Given the description of an element on the screen output the (x, y) to click on. 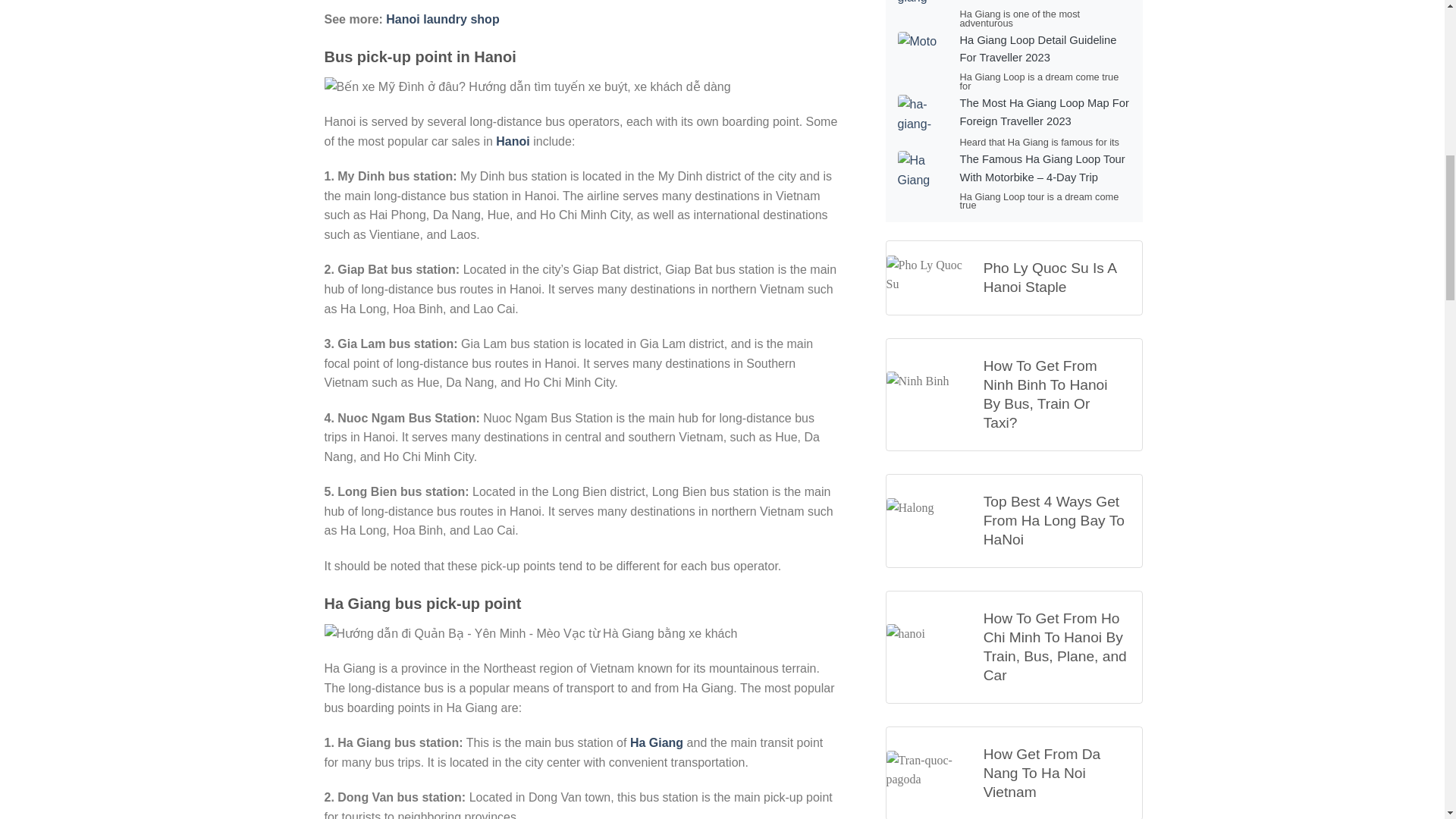
Hanoi (514, 141)
Ha Giang (656, 742)
Hanoi laundry shop (442, 19)
